Given the description of an element on the screen output the (x, y) to click on. 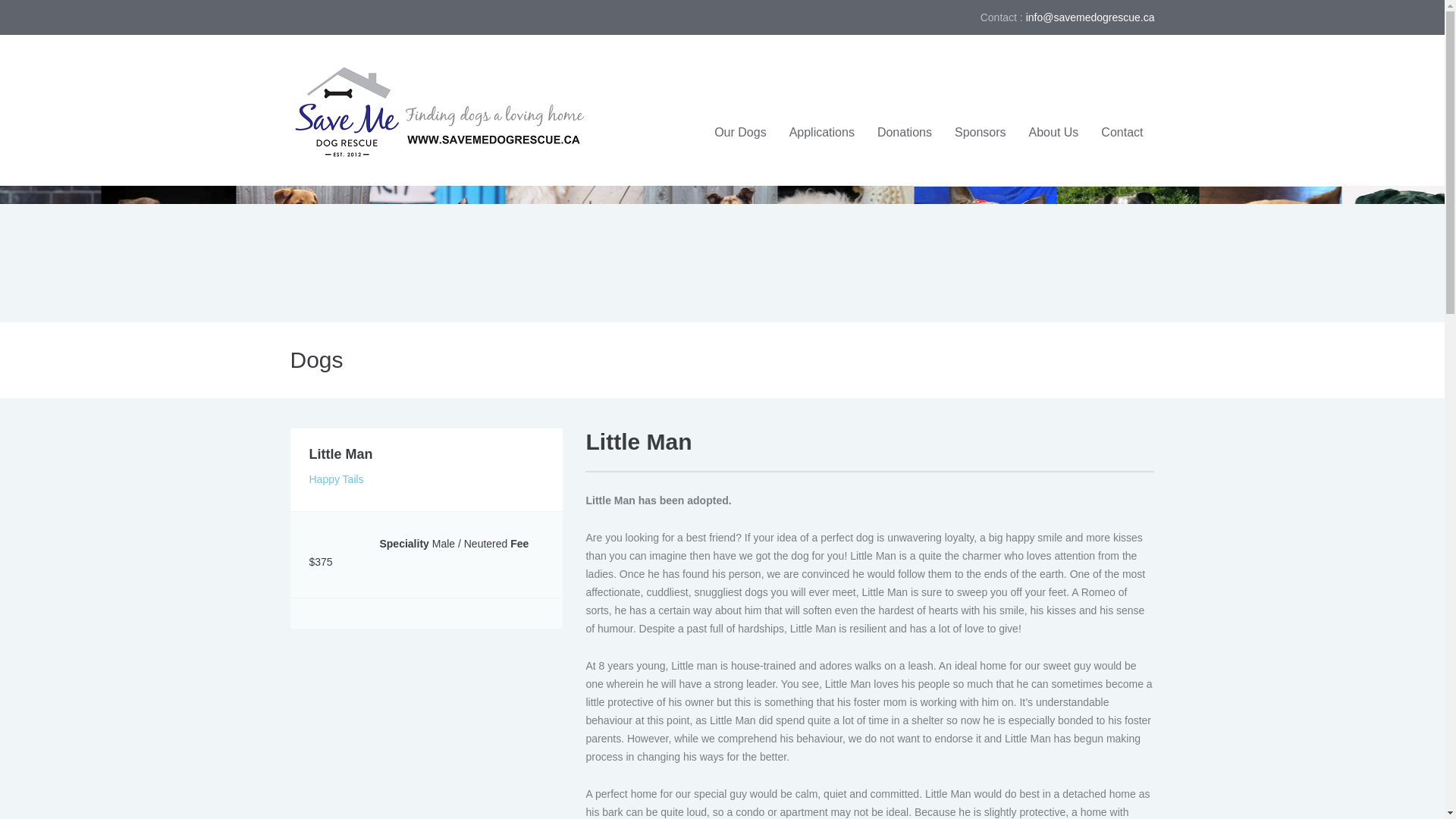
Contact (1121, 132)
Our Dogs (740, 132)
About Us (1053, 132)
Sponsors (980, 132)
Donations (904, 132)
Happy Tails (336, 479)
Applications (821, 132)
